Given the description of an element on the screen output the (x, y) to click on. 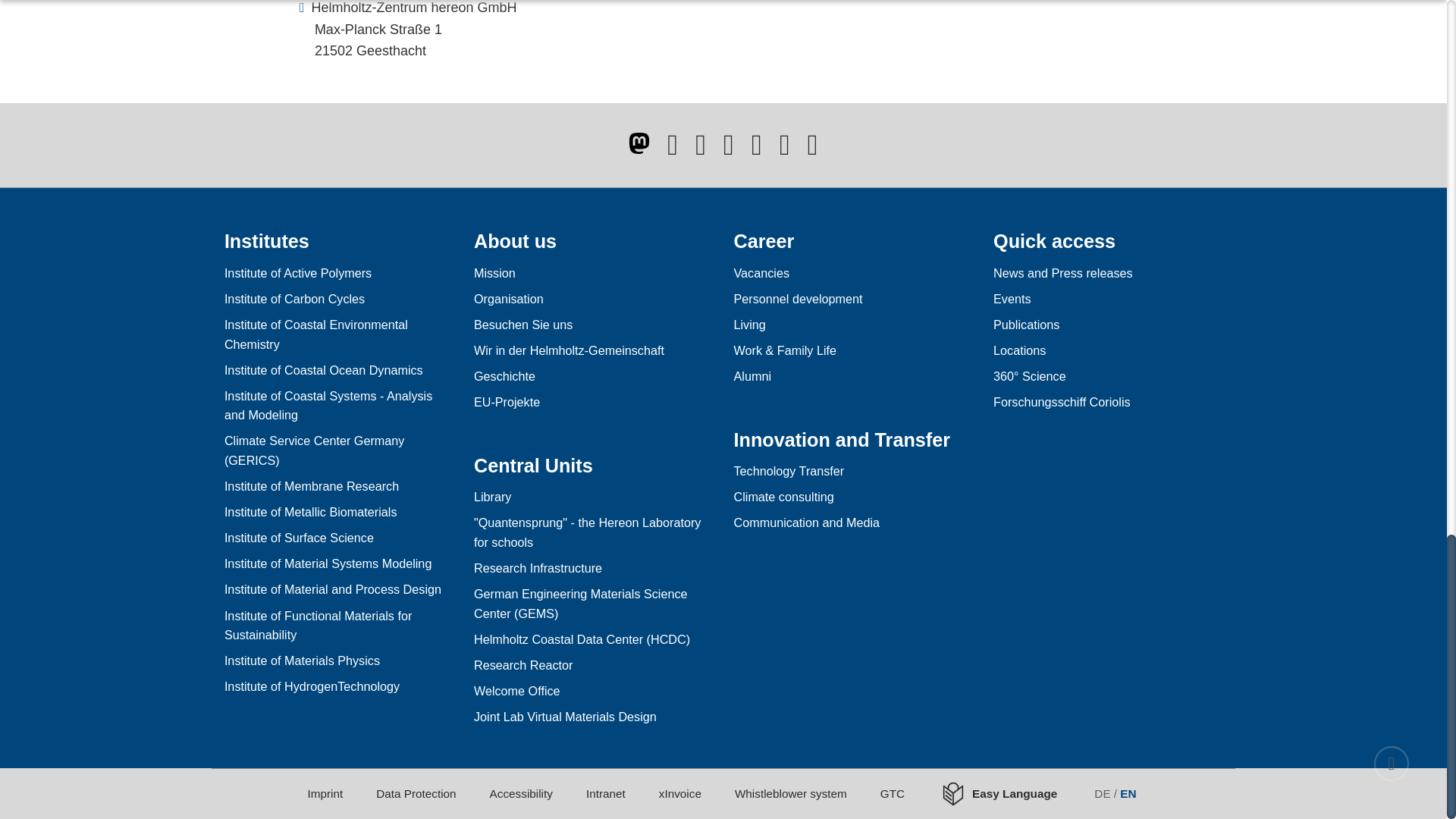
Easy Language (1007, 793)
Hereon at Youtube (728, 150)
Hereon at Facebook (672, 150)
Hereon at Linkedin (784, 150)
Click to change language (1116, 793)
Hereon at Rss (813, 150)
Hereon at Mastodon (638, 142)
Hereon at Twitter (700, 150)
Hereon at Instagram (756, 150)
